Given the description of an element on the screen output the (x, y) to click on. 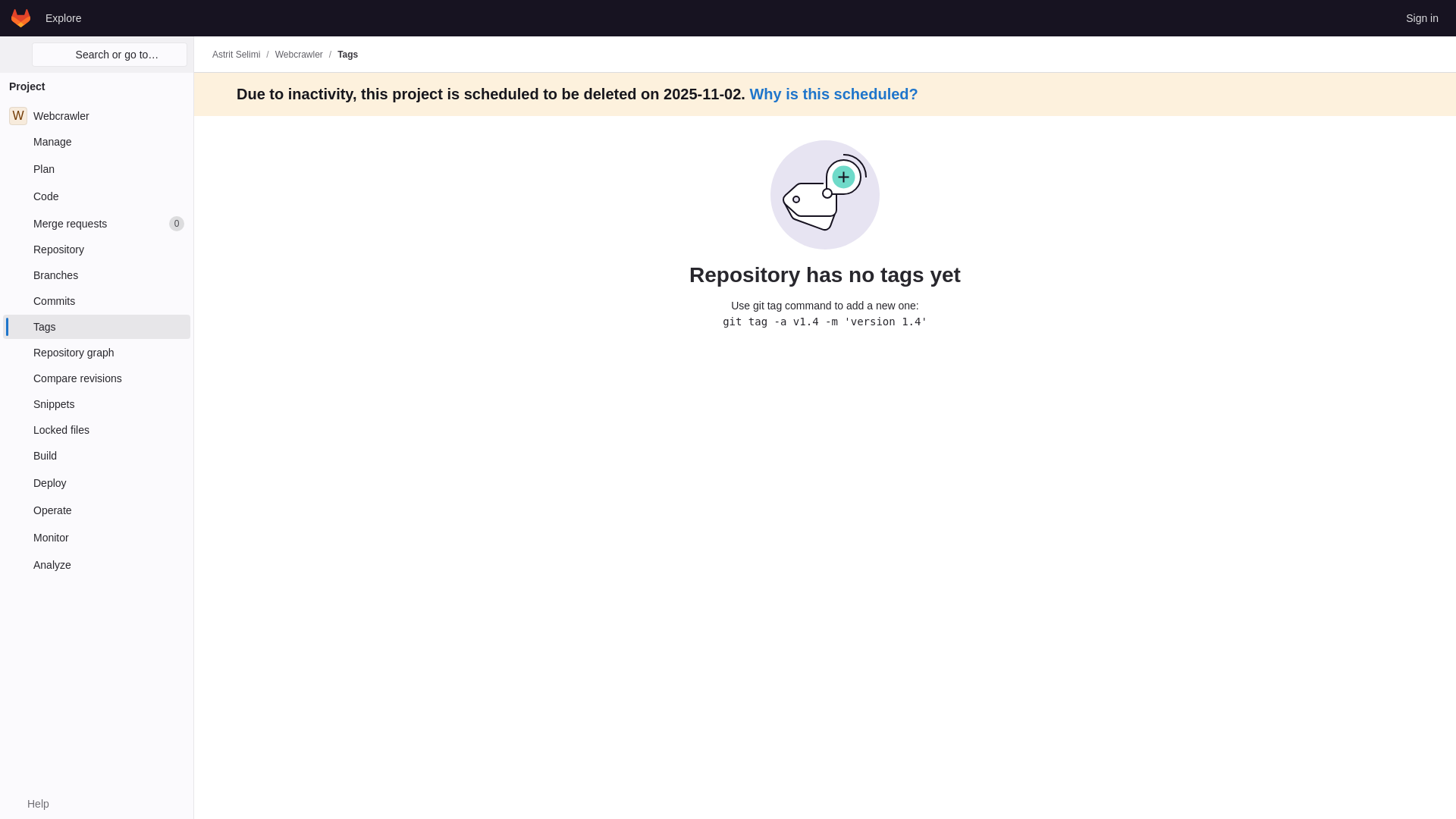
Compare revisions (96, 378)
Tags (96, 326)
Explore (63, 17)
Repository graph (96, 352)
Repository (96, 249)
Homepage (20, 17)
Branches (96, 274)
Sign in (1421, 17)
Manage (96, 115)
